Given the description of an element on the screen output the (x, y) to click on. 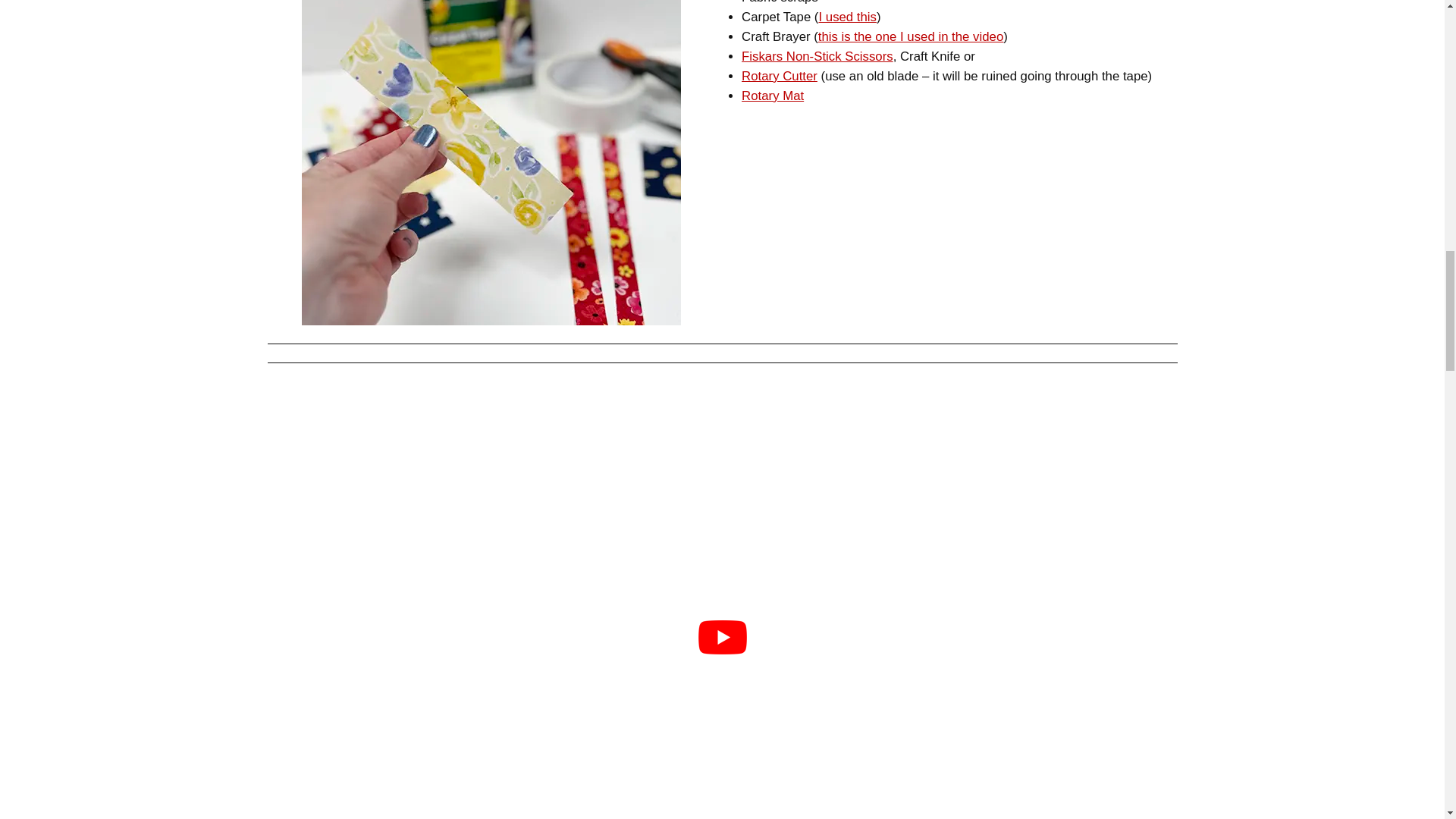
Rotary Mat (772, 95)
Fiskars Non-Stick Scissors (817, 56)
Rotary Cutter (778, 75)
I used this (847, 16)
this is the one I used in the video (910, 36)
